Given the description of an element on the screen output the (x, y) to click on. 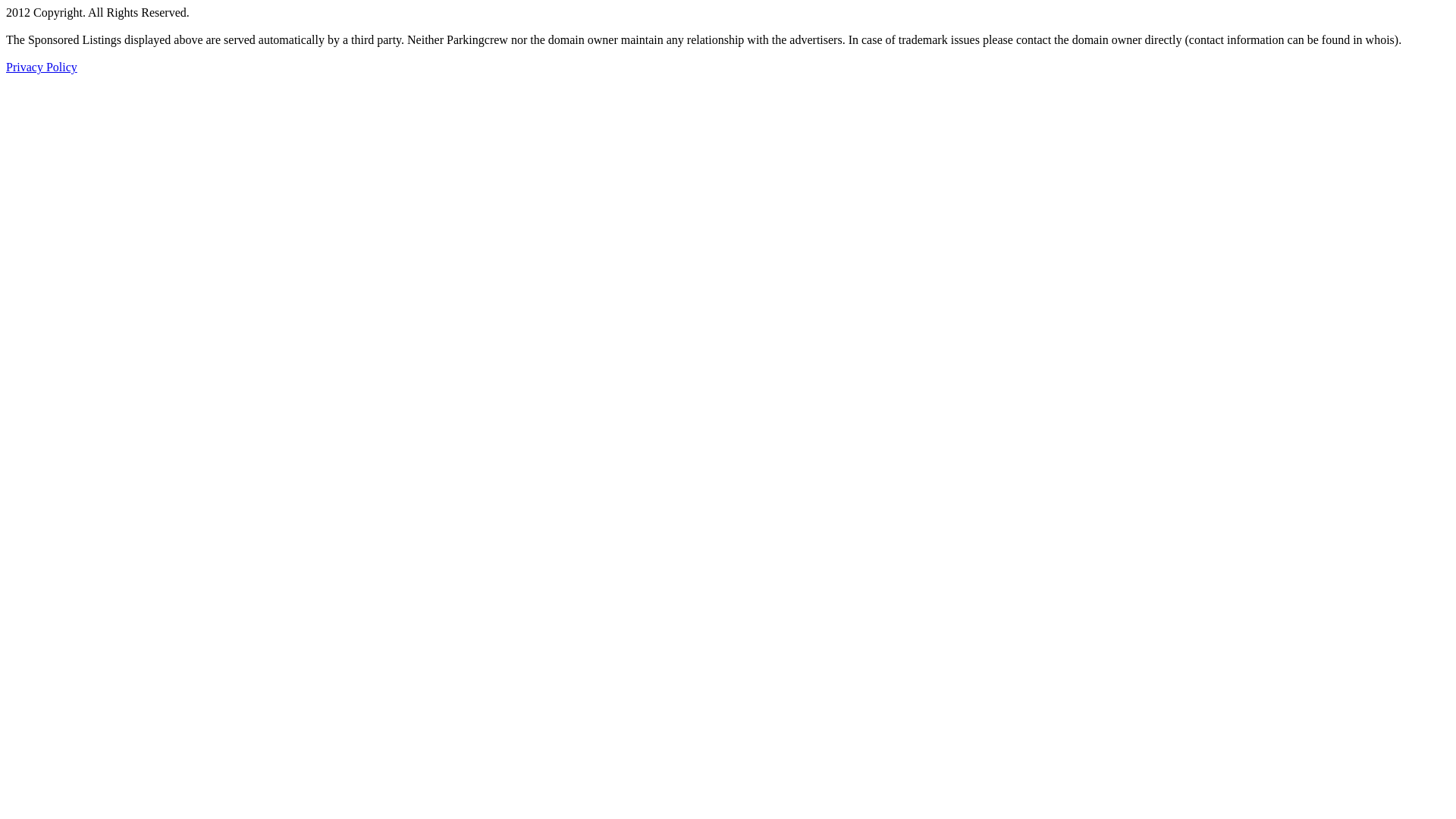
Privacy Policy Element type: text (41, 66)
